Given the description of an element on the screen output the (x, y) to click on. 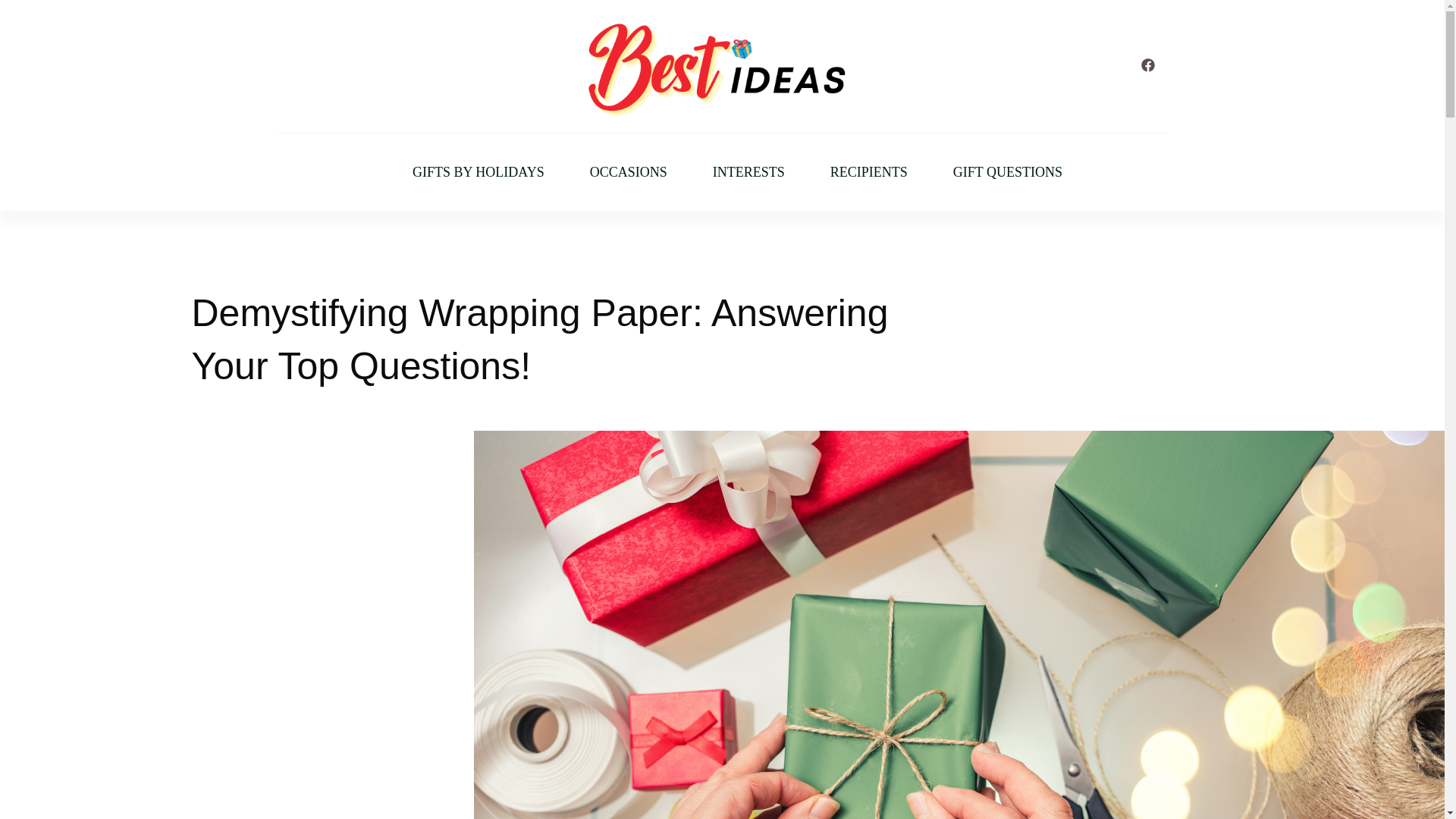
RECIPIENTS (868, 172)
GIFT QUESTIONS (1007, 172)
OCCASIONS (627, 172)
GIFTS BY HOLIDAYS (478, 172)
INTERESTS (748, 172)
Best Gift Ideas (654, 133)
